Given the description of an element on the screen output the (x, y) to click on. 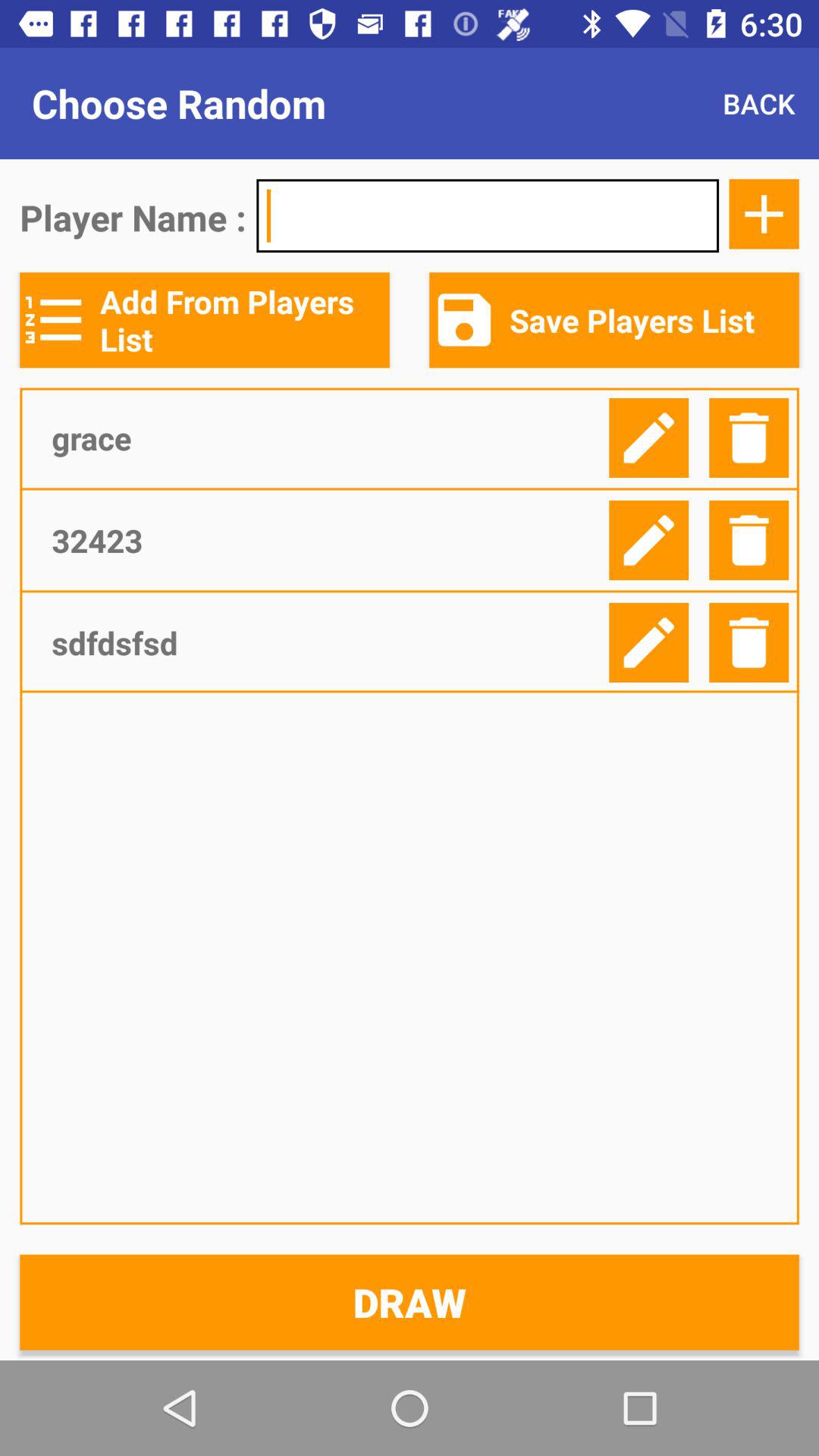
click item above the save players list item (764, 214)
